Given the description of an element on the screen output the (x, y) to click on. 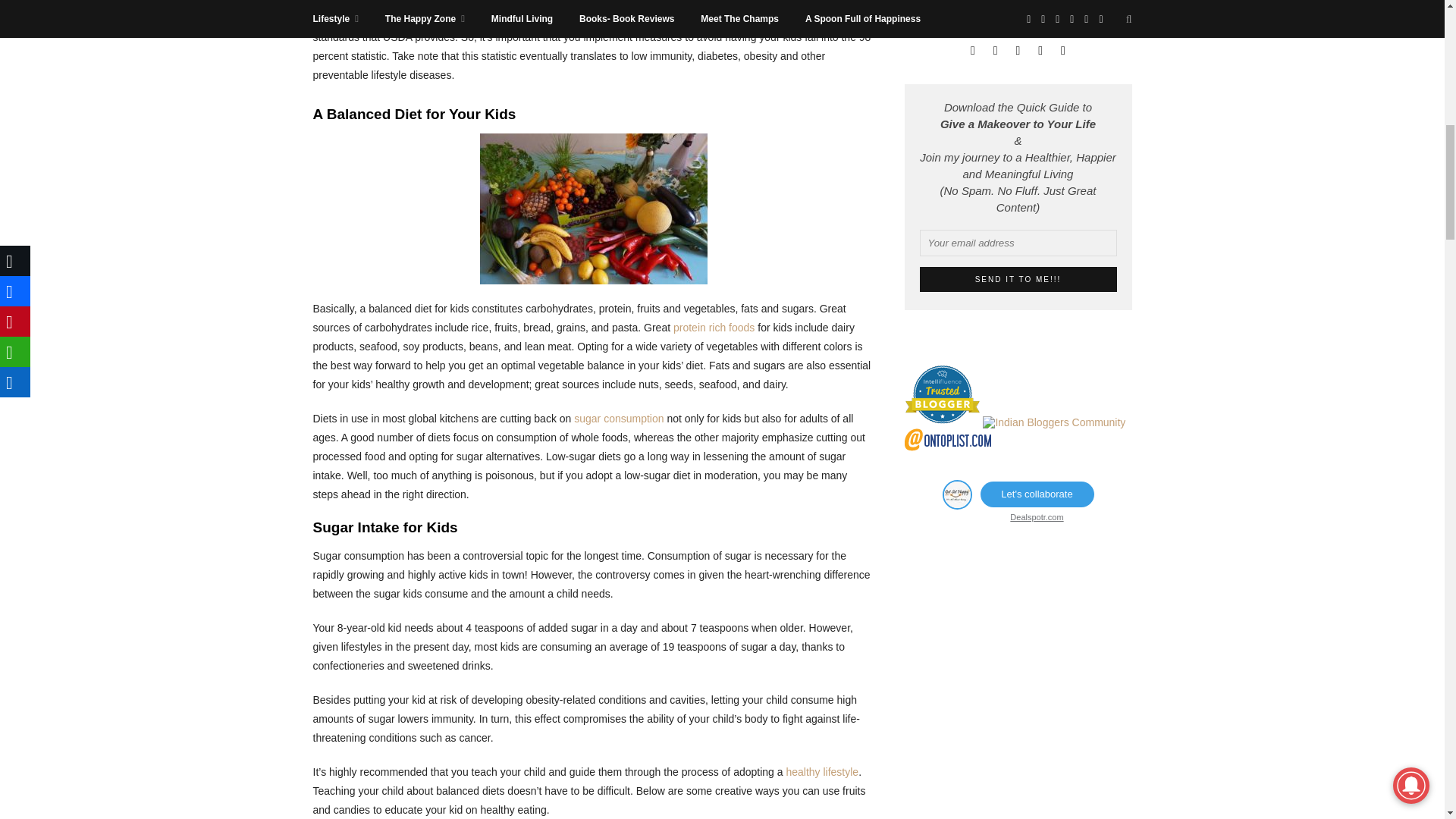
Send it to me!!! (1017, 278)
Indian Bloggers Community (1053, 422)
